Given the description of an element on the screen output the (x, y) to click on. 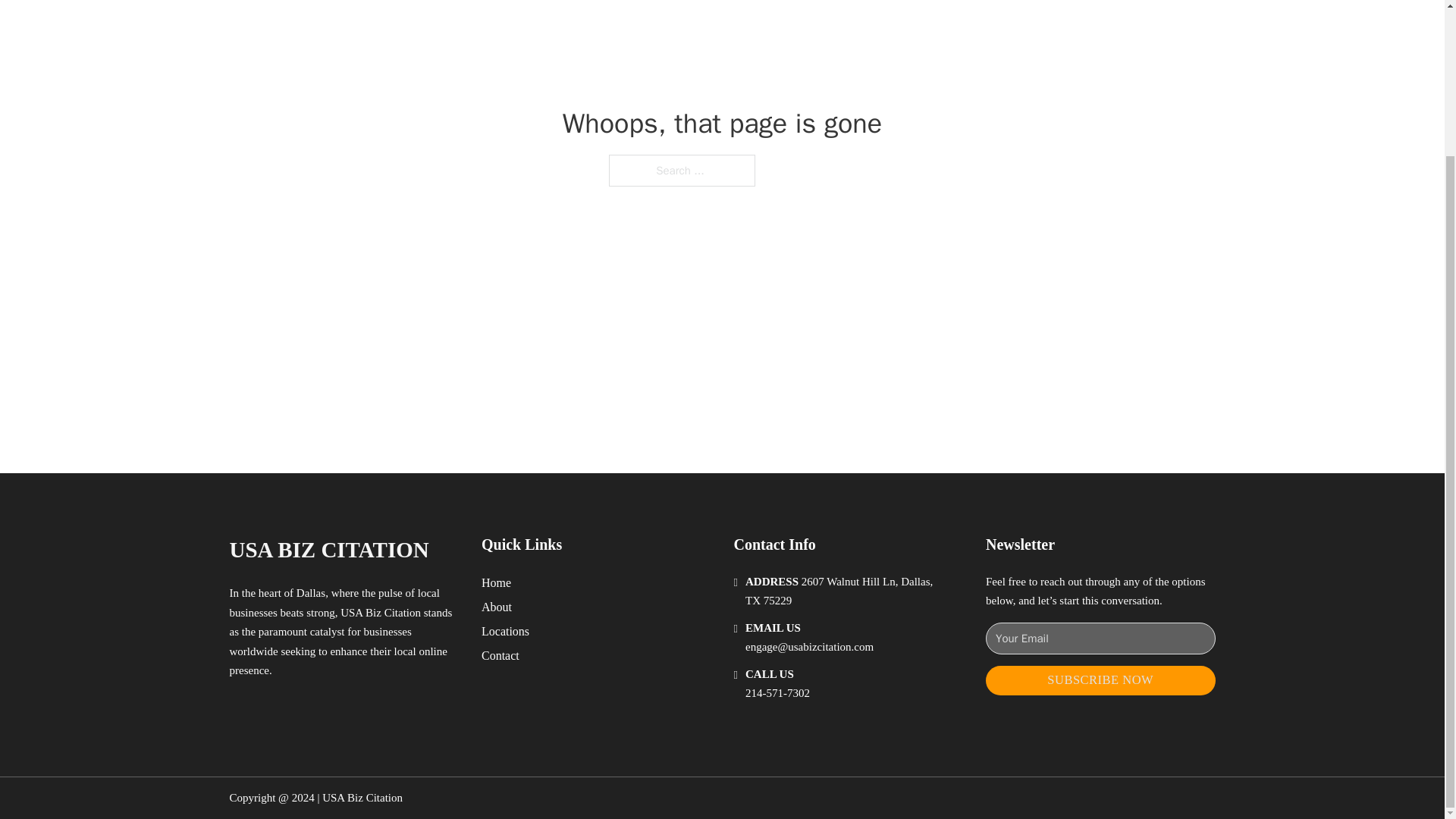
USA BIZ CITATION (328, 549)
SUBSCRIBE NOW (1100, 680)
214-571-7302 (777, 693)
Home (496, 582)
Locations (505, 630)
About (496, 607)
Contact (500, 655)
